Given the description of an element on the screen output the (x, y) to click on. 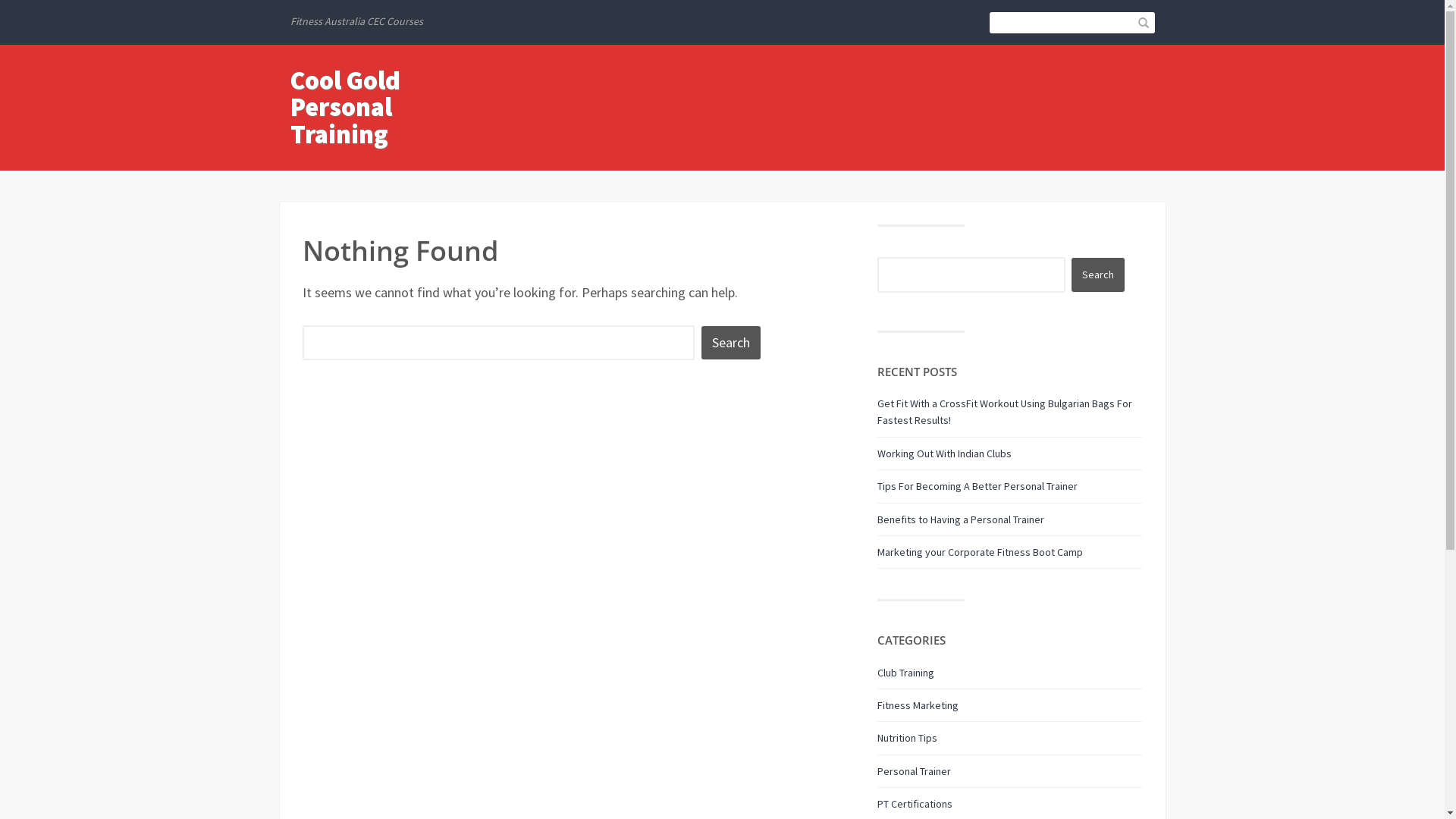
Fitness Marketing Element type: text (917, 705)
PT Certifications Element type: text (914, 803)
Tips For Becoming A Better Personal Trainer Element type: text (977, 485)
Benefits to Having a Personal Trainer Element type: text (960, 519)
Marketing your Corporate Fitness Boot Camp Element type: text (979, 551)
Search Element type: text (730, 342)
Nutrition Tips Element type: text (907, 737)
Working Out With Indian Clubs Element type: text (944, 453)
Cool Gold Personal Training Element type: text (344, 107)
Search Element type: text (1097, 274)
Club Training Element type: text (905, 672)
Personal Trainer Element type: text (913, 771)
